Given the description of an element on the screen output the (x, y) to click on. 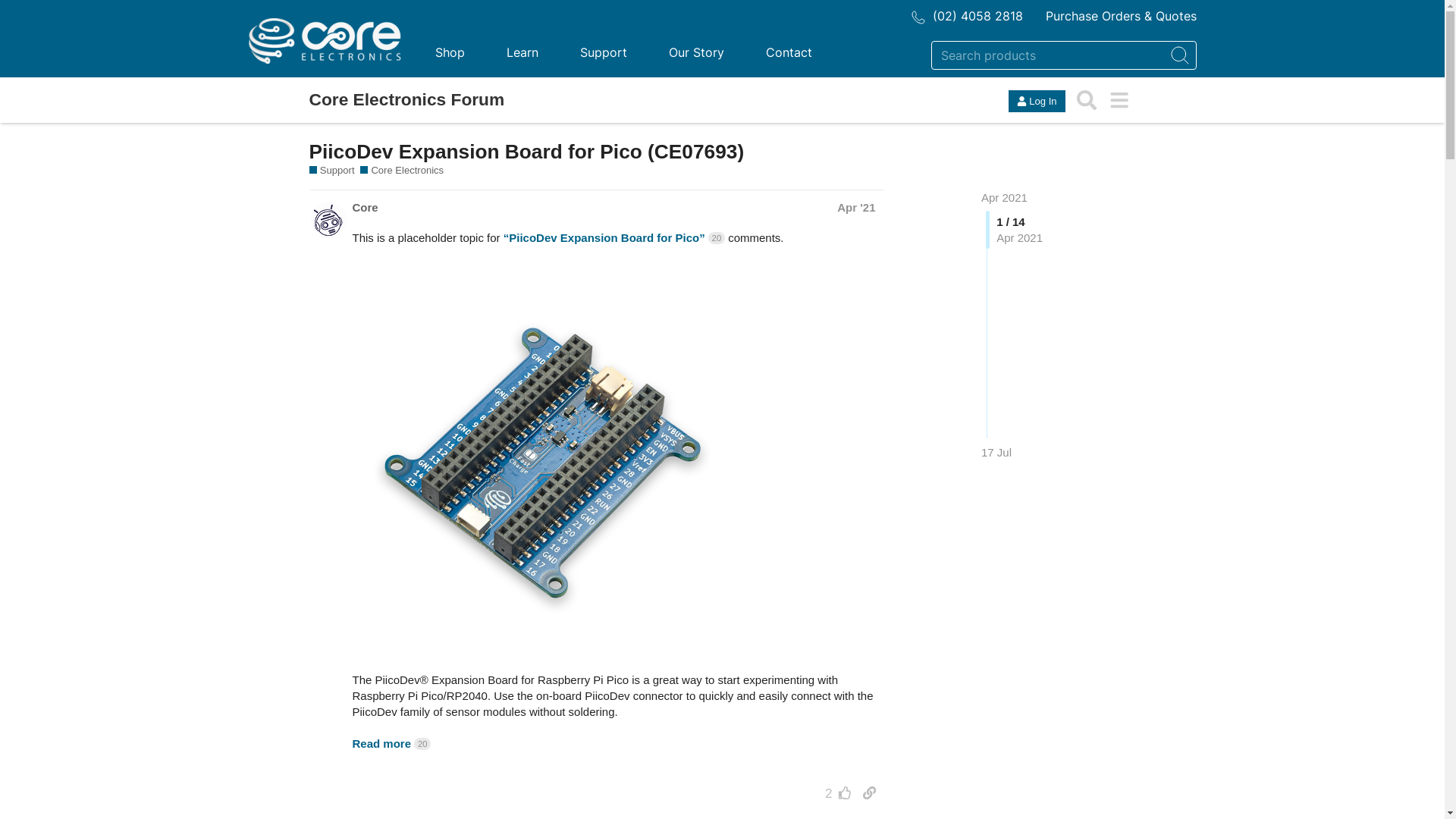
share a link to this post Element type: hover (869, 793)
menu Element type: hover (1119, 100)
2 Element type: text (834, 793)
Contact Element type: text (788, 51)
17 Jul Element type: text (996, 452)
Core Element type: text (364, 207)
Apr 2021 Element type: text (1004, 197)
PiicoDev Expansion Board for Pico (CE07693) Element type: text (526, 151)
Support Element type: text (603, 51)
Purchase Orders & Quotes Element type: text (1119, 15)
Core Electronics Forum Element type: text (407, 99)
Log In Element type: text (1036, 101)
Our Story Element type: text (695, 51)
piicodev-expansion-board-for-pico.jpg Element type: hover (541, 462)
Apr '21 Element type: text (856, 206)
Core Electronics Element type: text (401, 170)
Support Element type: text (331, 170)
Learn Element type: text (521, 51)
Shop Element type: text (449, 51)
Read more 20 Element type: text (390, 743)
(02) 4058 2818 Element type: text (966, 15)
Search Element type: hover (1086, 100)
